Given the description of an element on the screen output the (x, y) to click on. 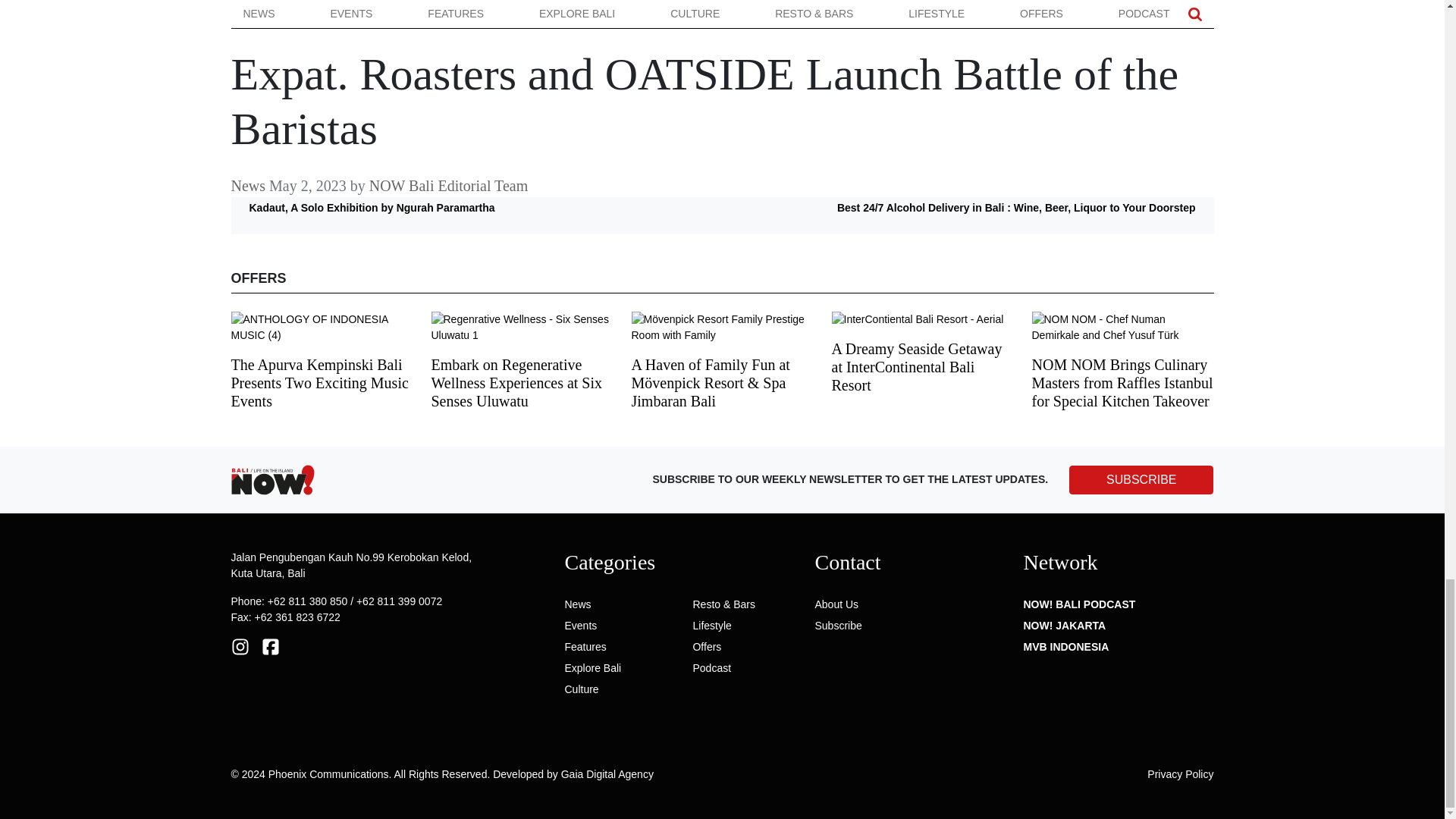
Instagraqm (239, 645)
NOW Bali Editorial Team (523, 95)
